Given the description of an element on the screen output the (x, y) to click on. 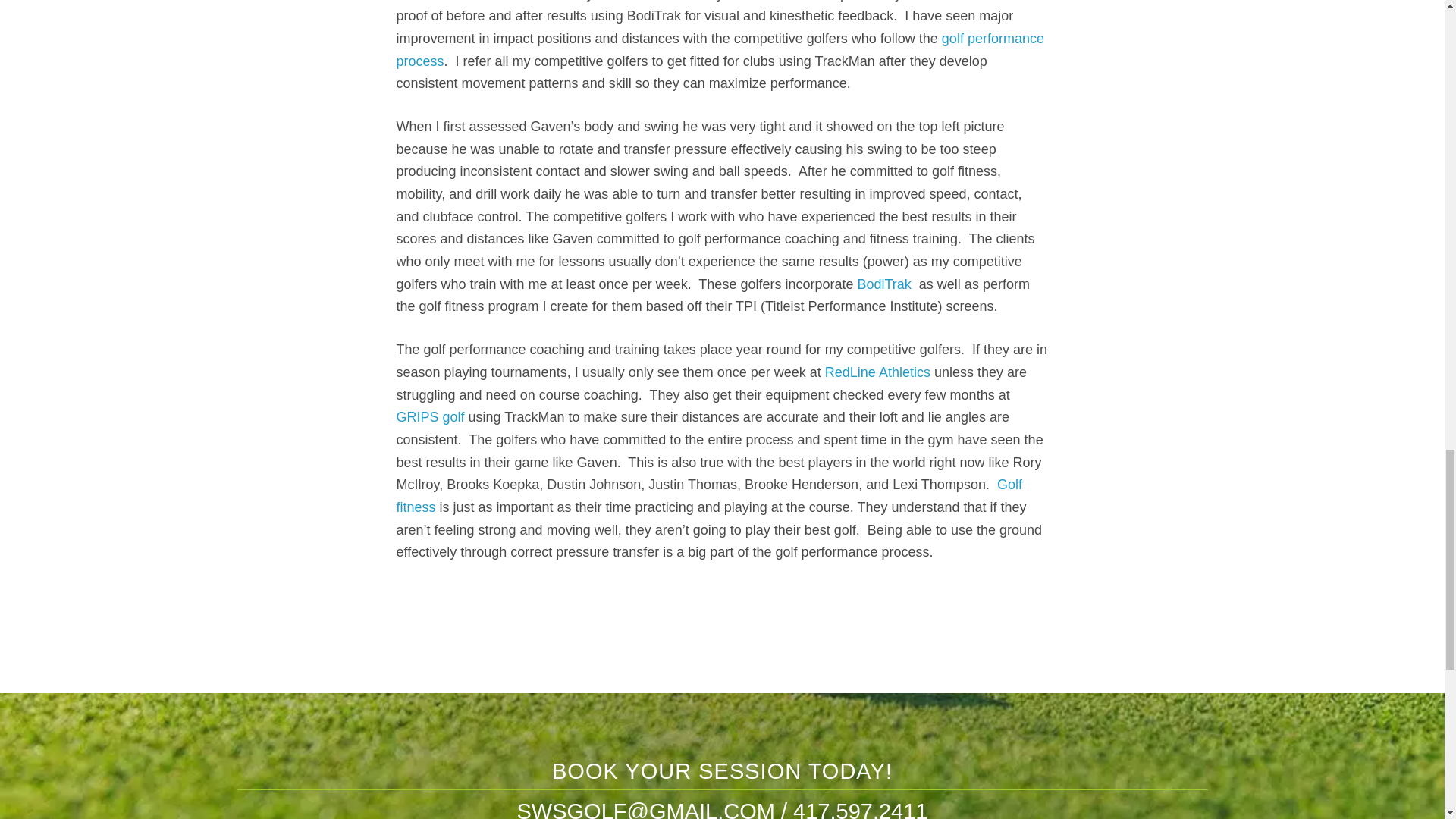
golf performance process (719, 49)
BodiTrak (884, 283)
417.597.2411 (860, 809)
Golf fitness (709, 495)
GRIPS golf (430, 417)
RedLine Athletics (877, 372)
